Given the description of an element on the screen output the (x, y) to click on. 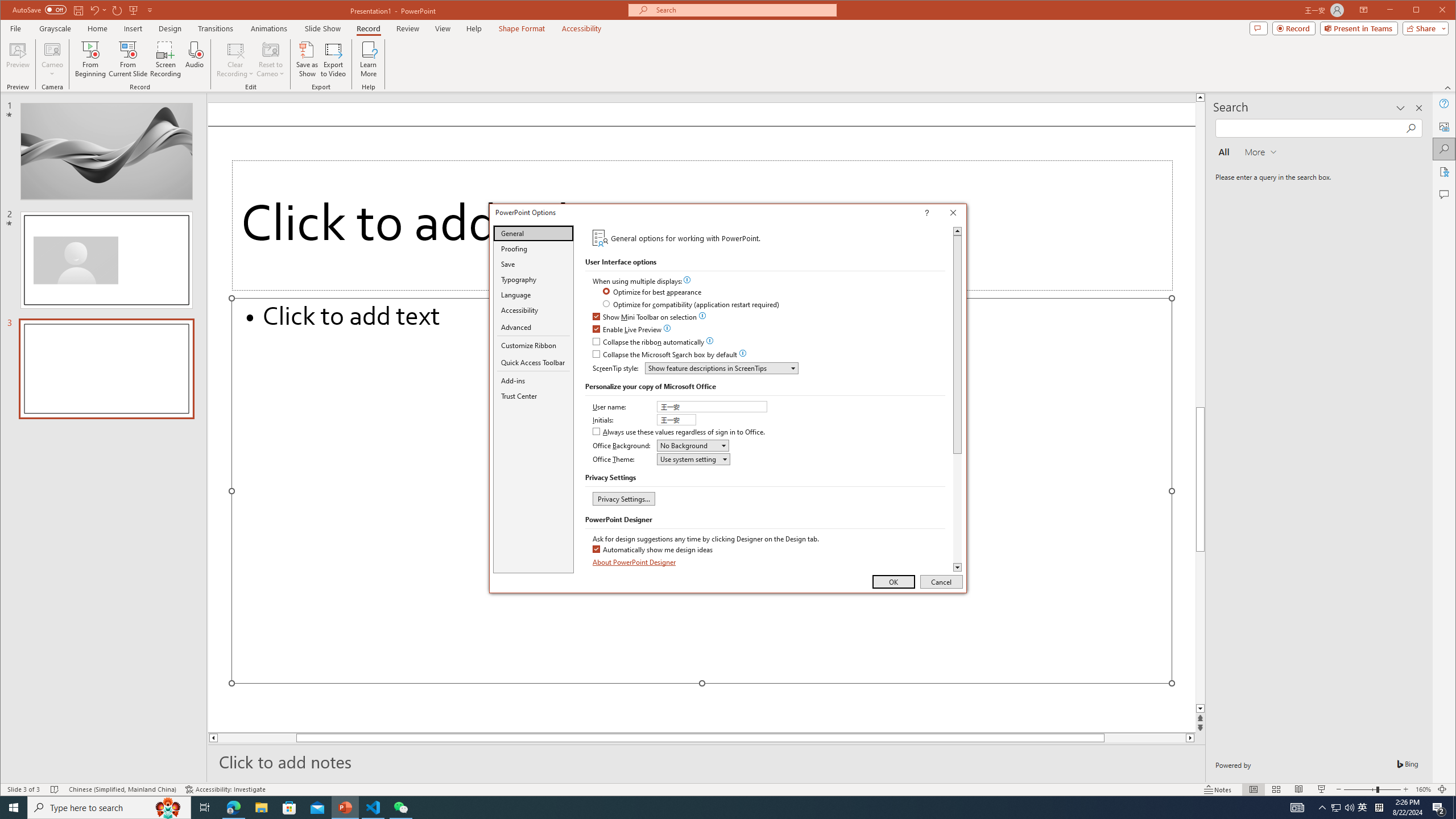
Privacy Settings... (623, 498)
Office Background (692, 445)
Office Theme (693, 458)
Class: NetUIScrollBar (957, 399)
Save as Show (307, 59)
